Given the description of an element on the screen output the (x, y) to click on. 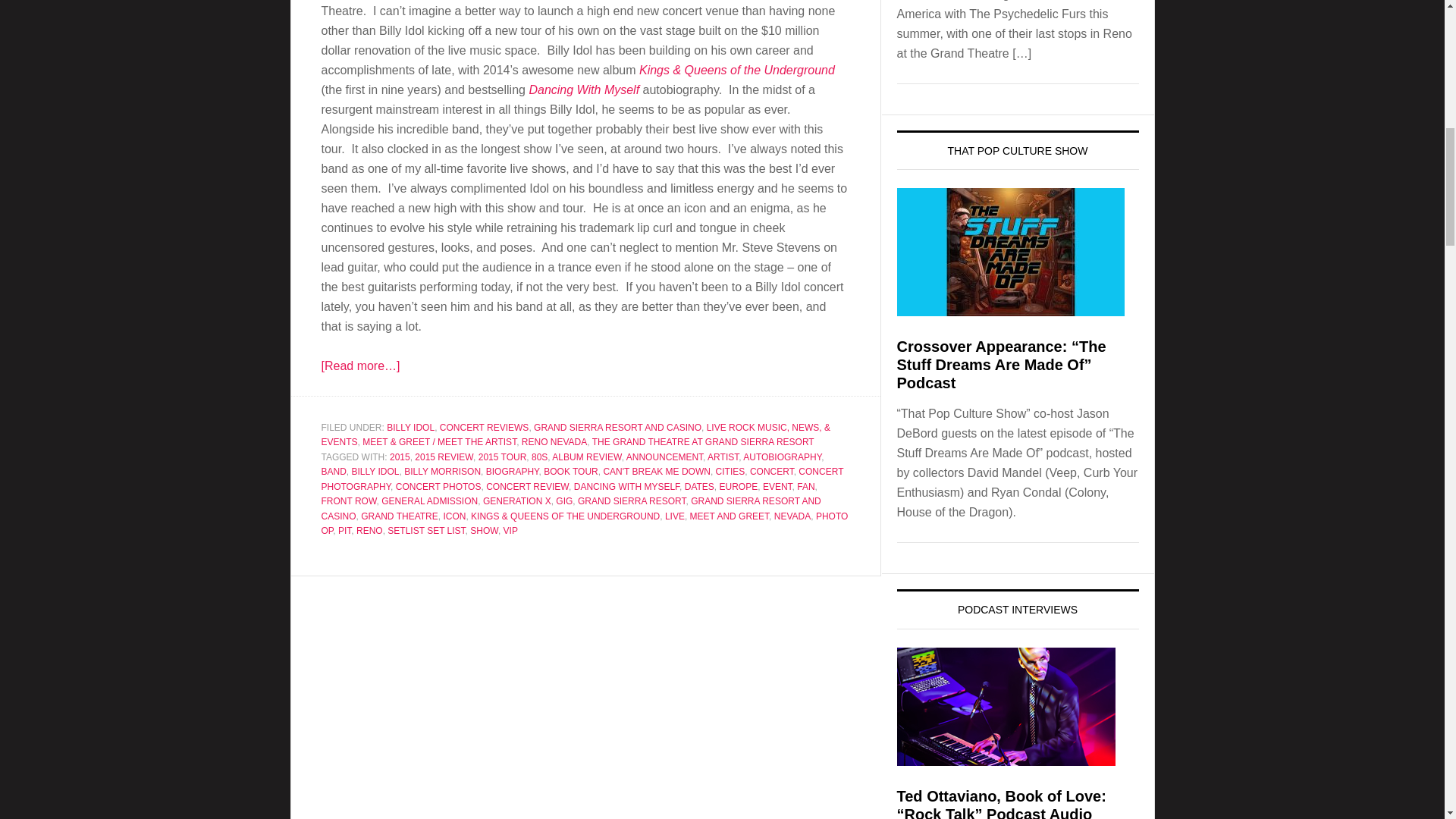
2015 (400, 457)
CONCERT REVIEWS (484, 427)
BILLY IDOL (410, 427)
GRAND SIERRA RESORT AND CASINO (617, 427)
2015 REVIEW (443, 457)
RENO NEVADA (553, 441)
Dancing With Myself (583, 89)
THE GRAND THEATRE AT GRAND SIERRA RESORT (702, 441)
